Given the description of an element on the screen output the (x, y) to click on. 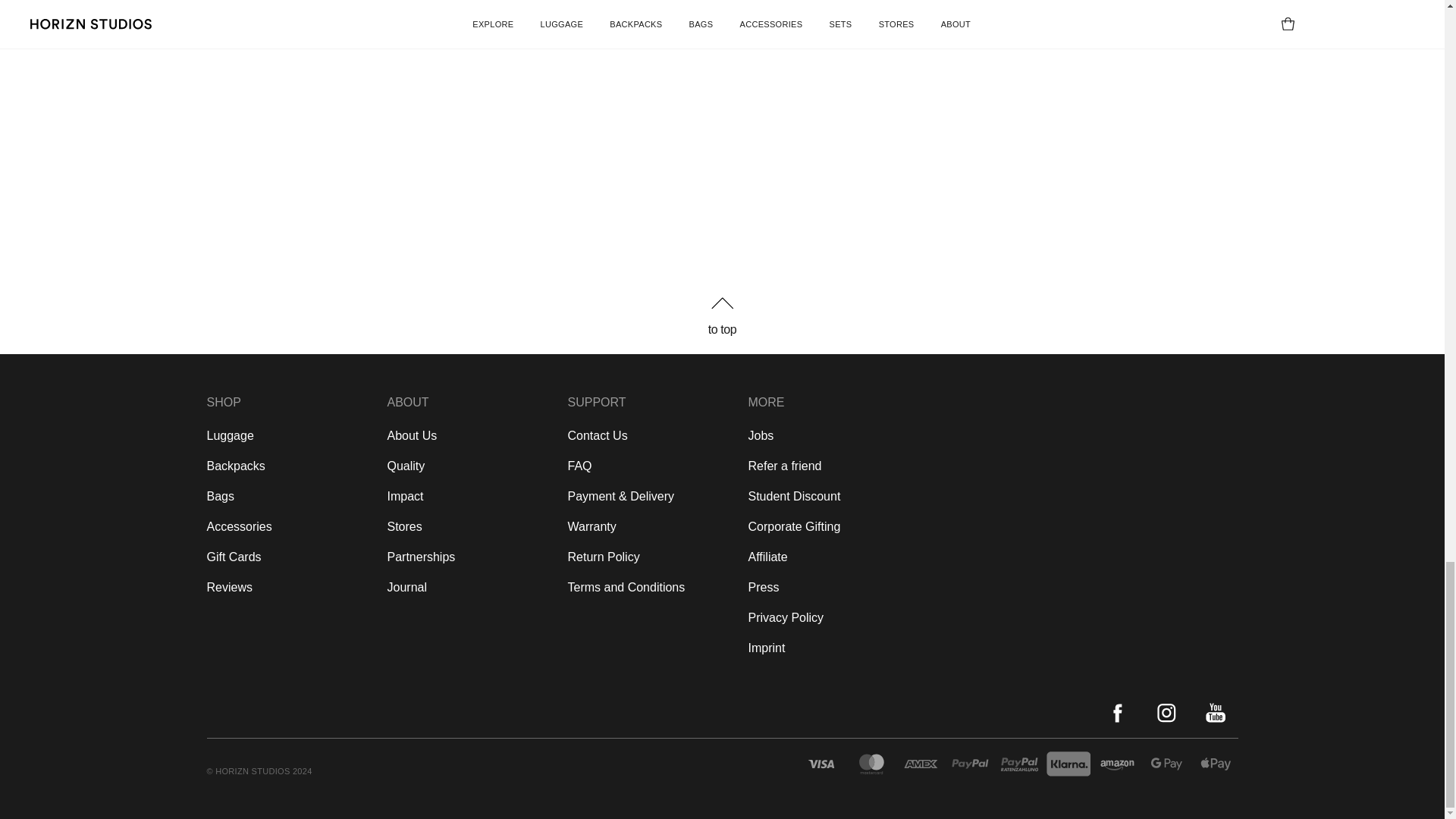
to top (721, 315)
to top (721, 329)
